Given the description of an element on the screen output the (x, y) to click on. 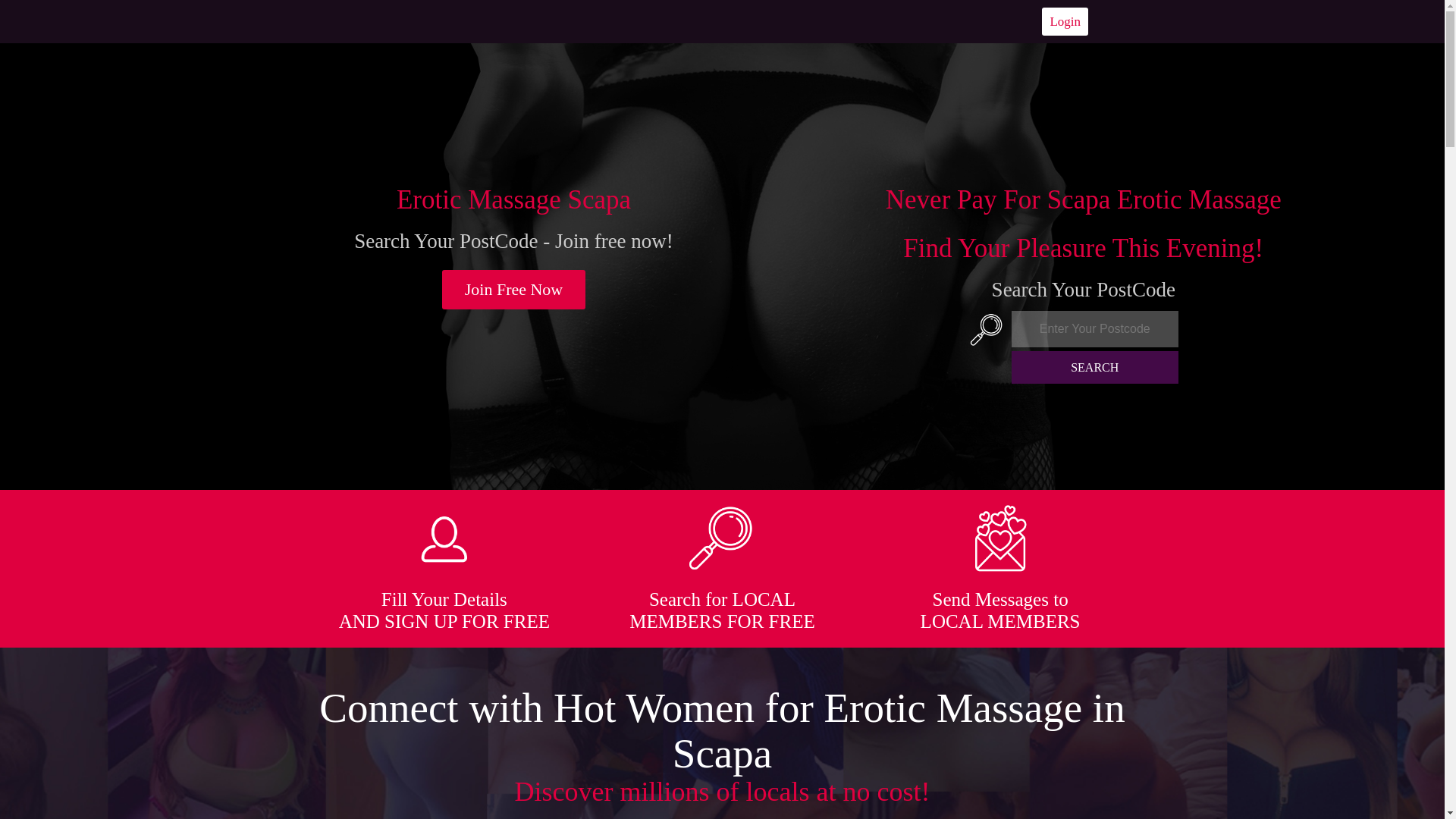
Login (1064, 21)
Join Free Now (514, 289)
SEARCH (1094, 367)
Join (514, 289)
Login (1064, 21)
